Given the description of an element on the screen output the (x, y) to click on. 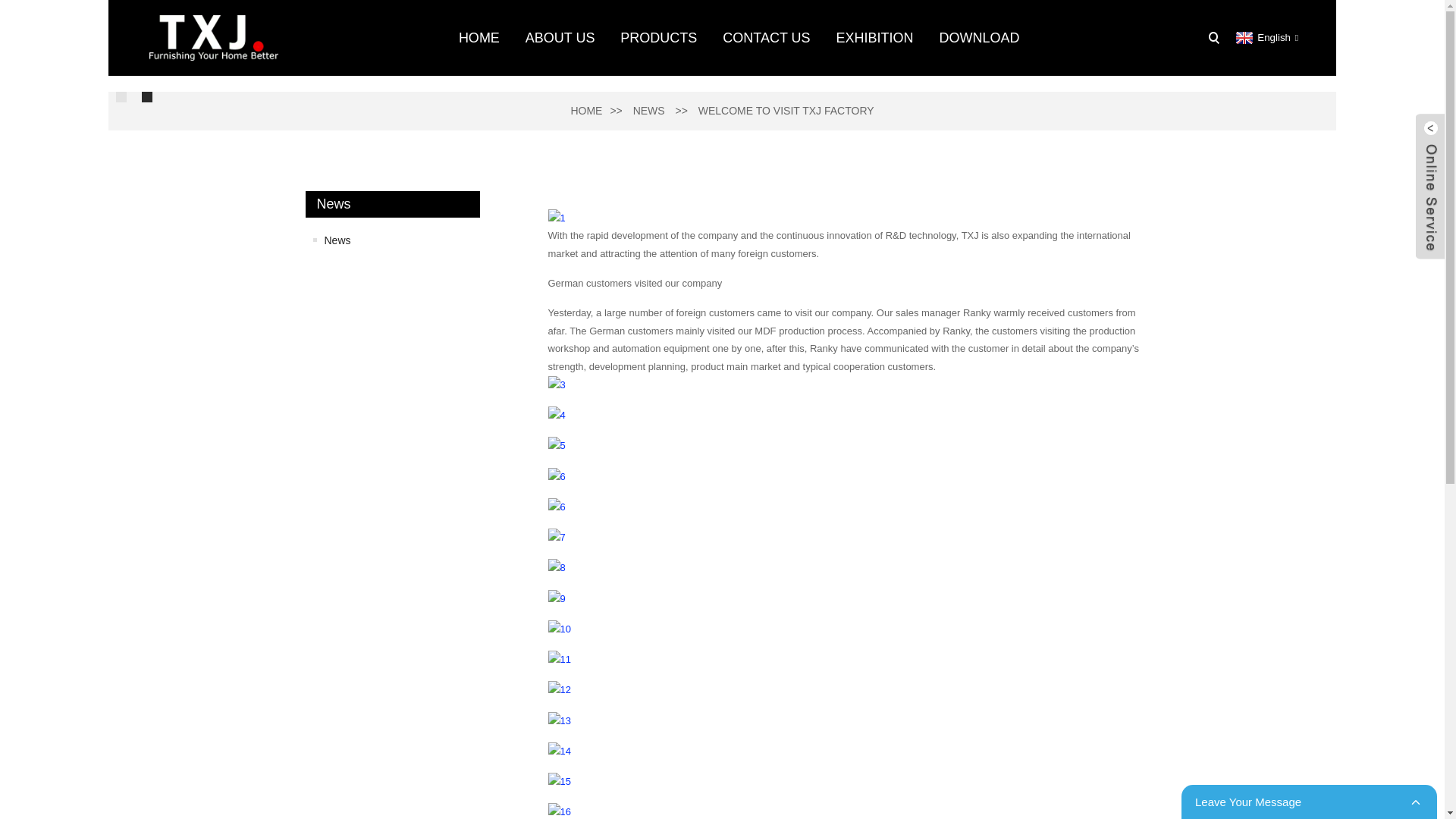
EXHIBITION (873, 38)
WELCOME TO VISIT TXJ FACTORY (786, 110)
News (396, 240)
DOWNLOAD (979, 38)
HOME (586, 110)
English (1264, 37)
PRODUCTS (658, 38)
NEWS (649, 110)
CONTACT US (765, 38)
ABOUT US (560, 38)
